Given the description of an element on the screen output the (x, y) to click on. 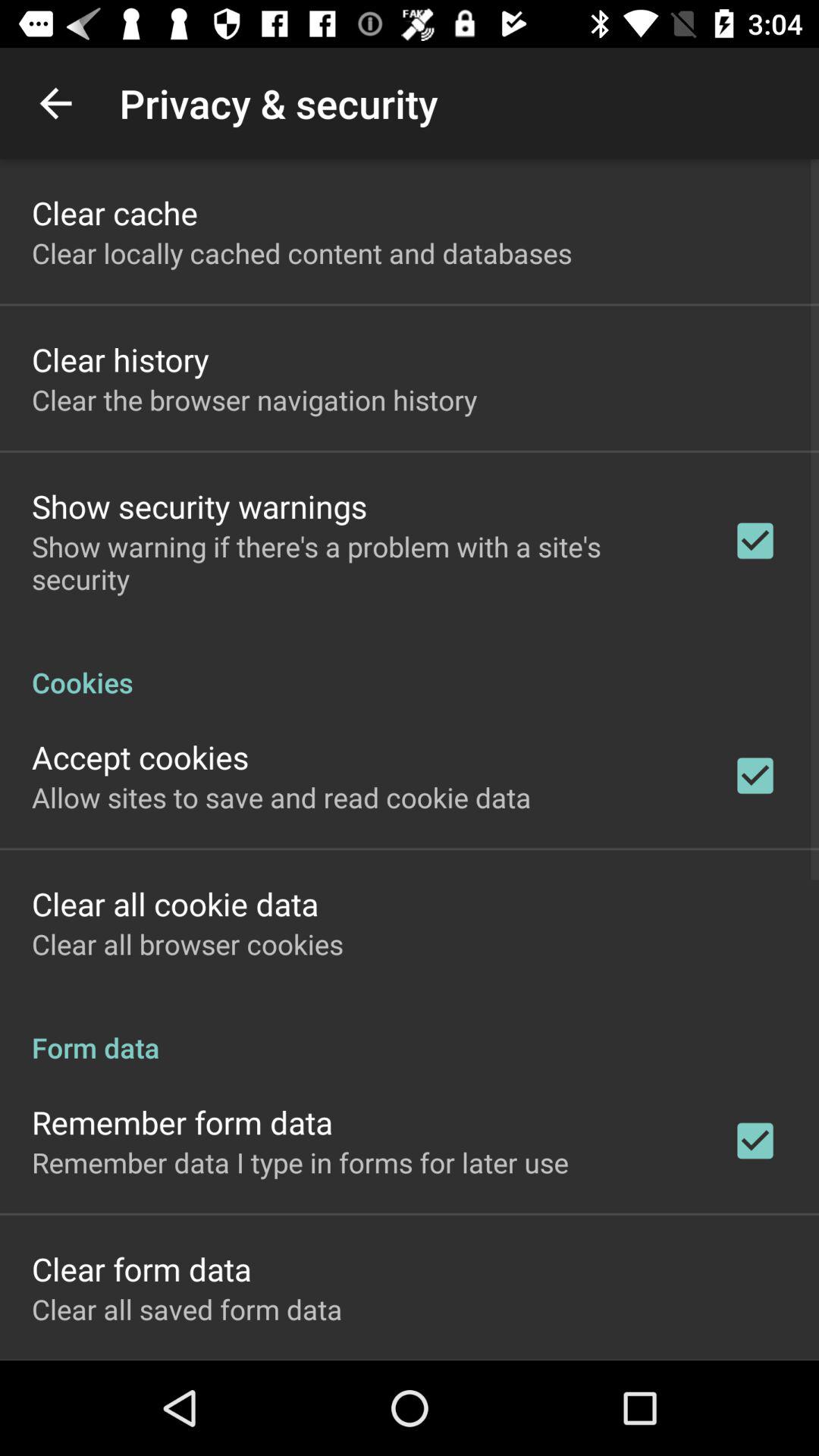
open the icon below the accept cookies (281, 797)
